Given the description of an element on the screen output the (x, y) to click on. 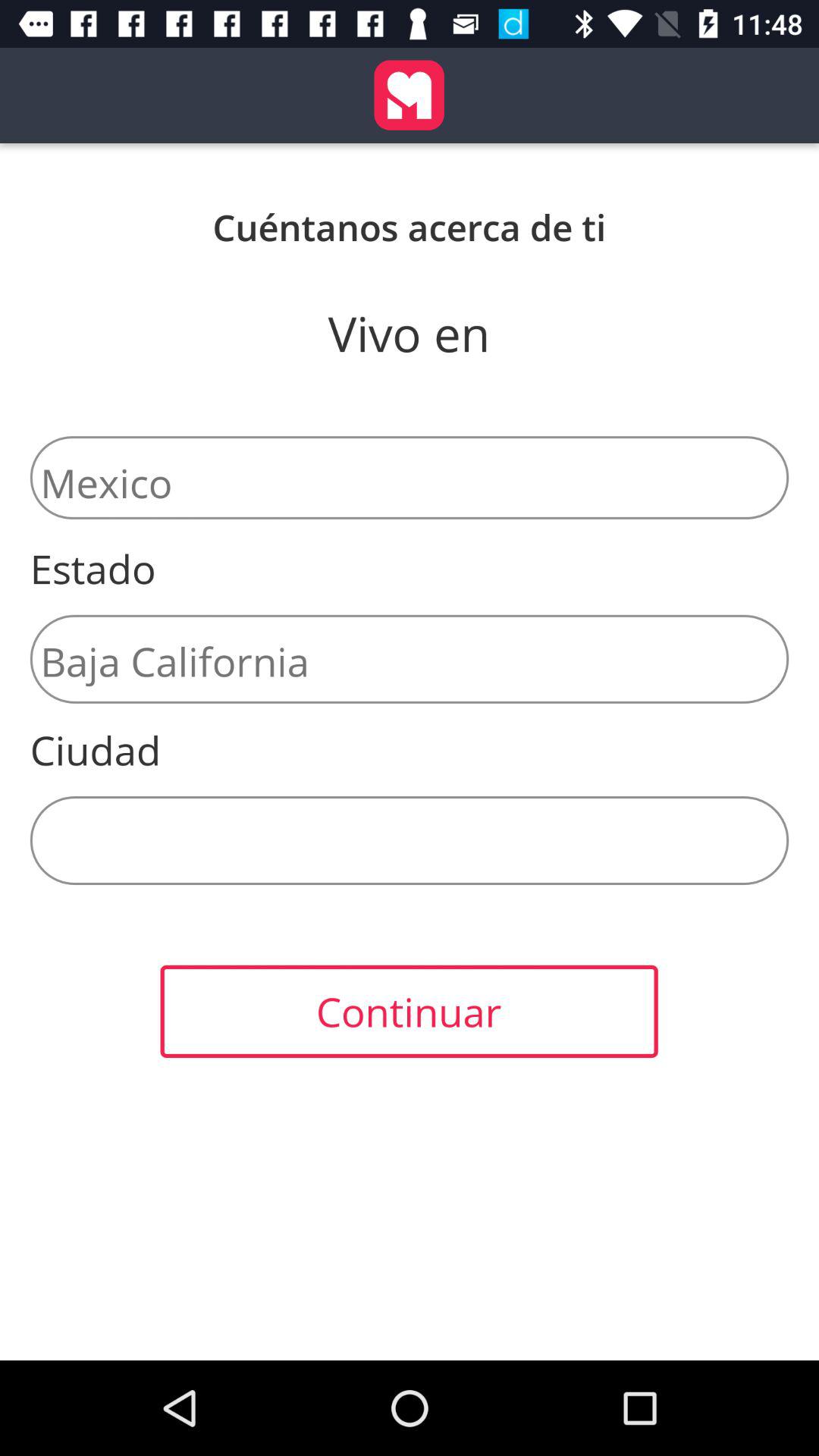
click the icon above the ciudad (409, 658)
